Given the description of an element on the screen output the (x, y) to click on. 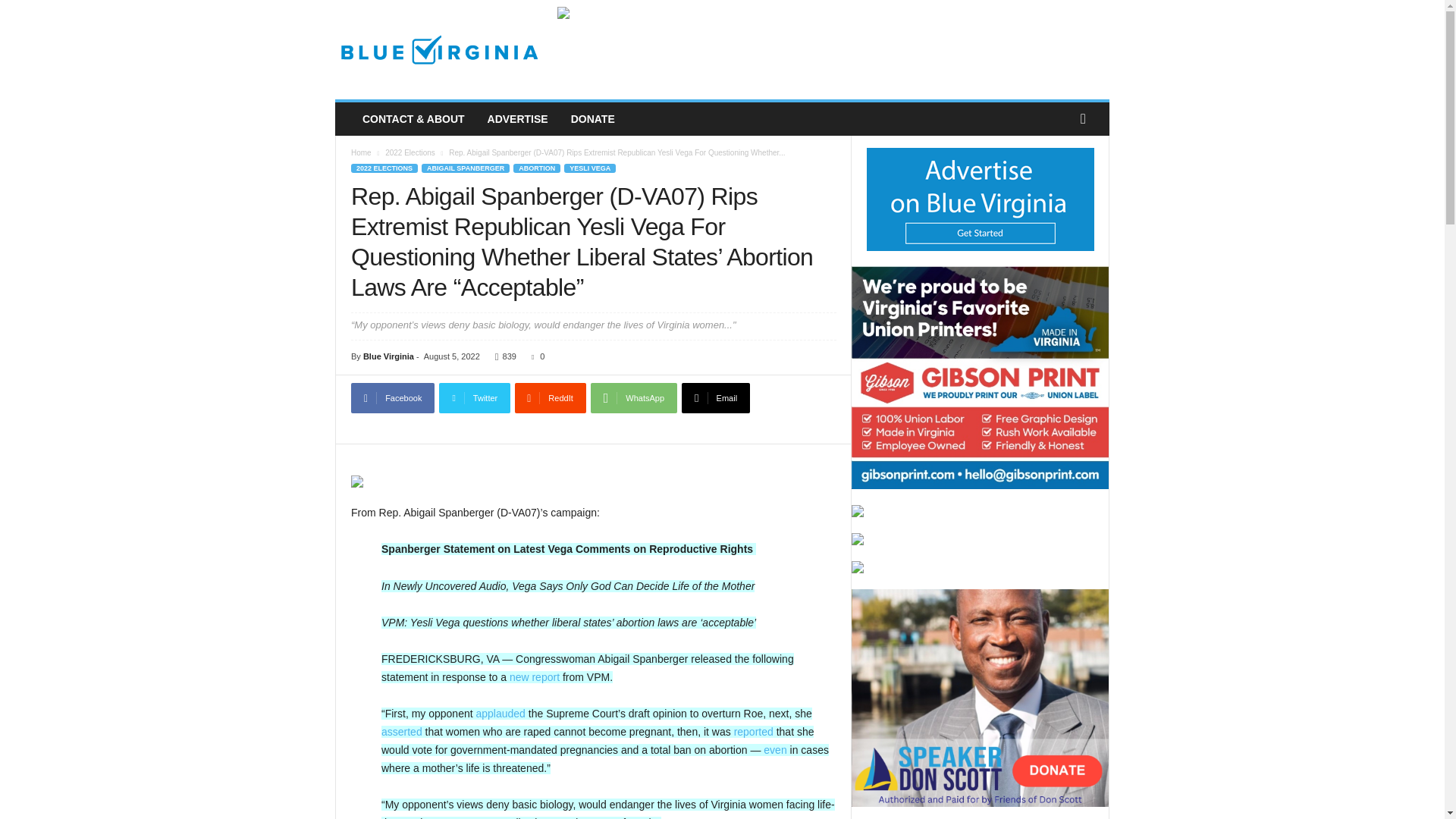
Twitter (475, 398)
Blue Virginia (387, 356)
Facebook (391, 398)
2022 ELECTIONS (383, 167)
View all posts in 2022 Elections (410, 152)
Home (360, 152)
new report (534, 676)
ABIGAIL SPANBERGER (465, 167)
0 (534, 356)
DONATE (592, 118)
WhatsApp (634, 398)
ABORTION (536, 167)
Email (715, 398)
2022 Elections (410, 152)
asserted (401, 731)
